Given the description of an element on the screen output the (x, y) to click on. 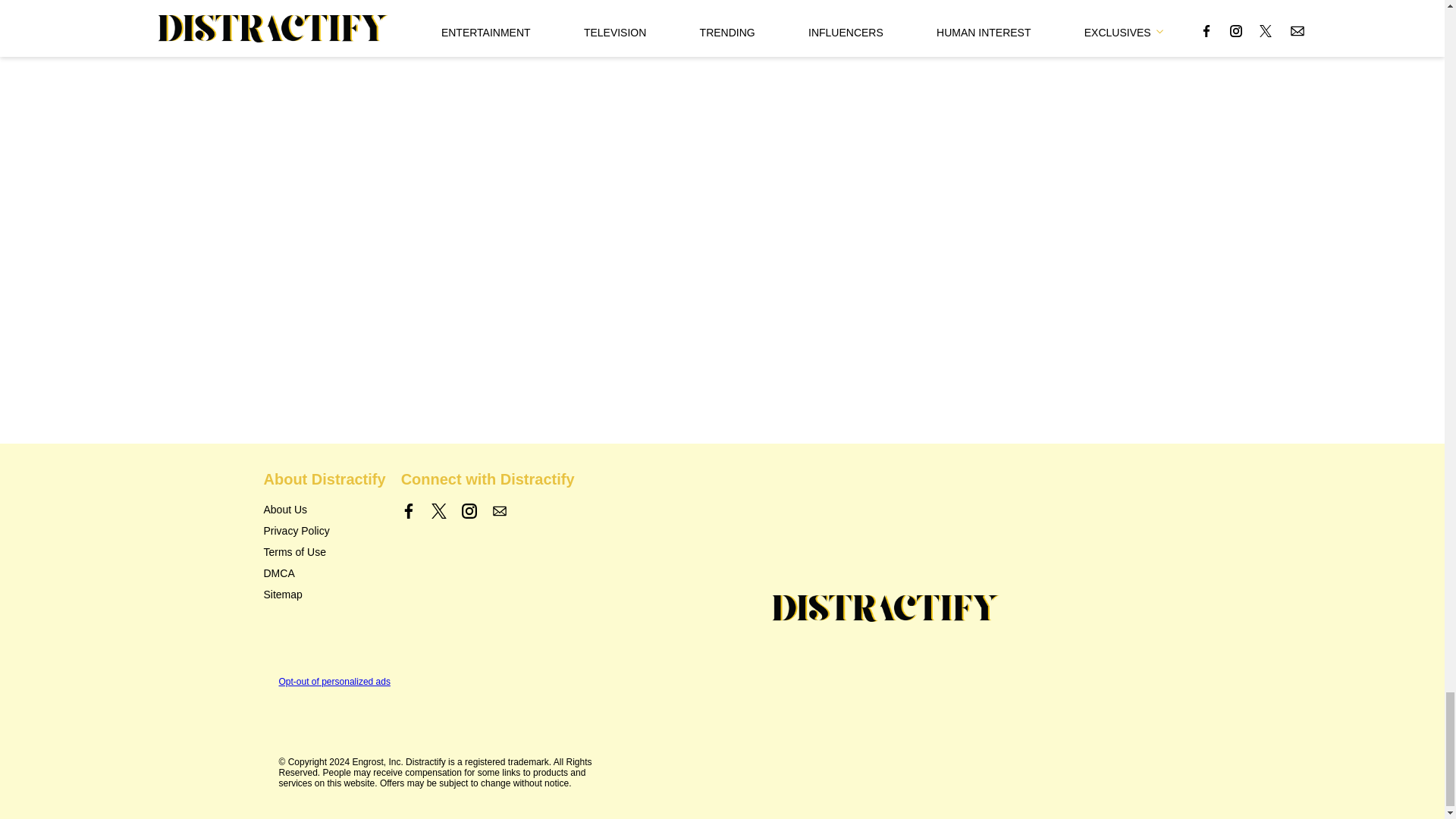
Terms of Use (294, 551)
About Us (285, 509)
About Us (285, 509)
Contact us by Email (499, 510)
Sitemap (282, 594)
Link to X (438, 510)
Link to Facebook (408, 510)
Privacy Policy (296, 530)
DMCA (279, 573)
Link to Instagram (469, 510)
